Given the description of an element on the screen output the (x, y) to click on. 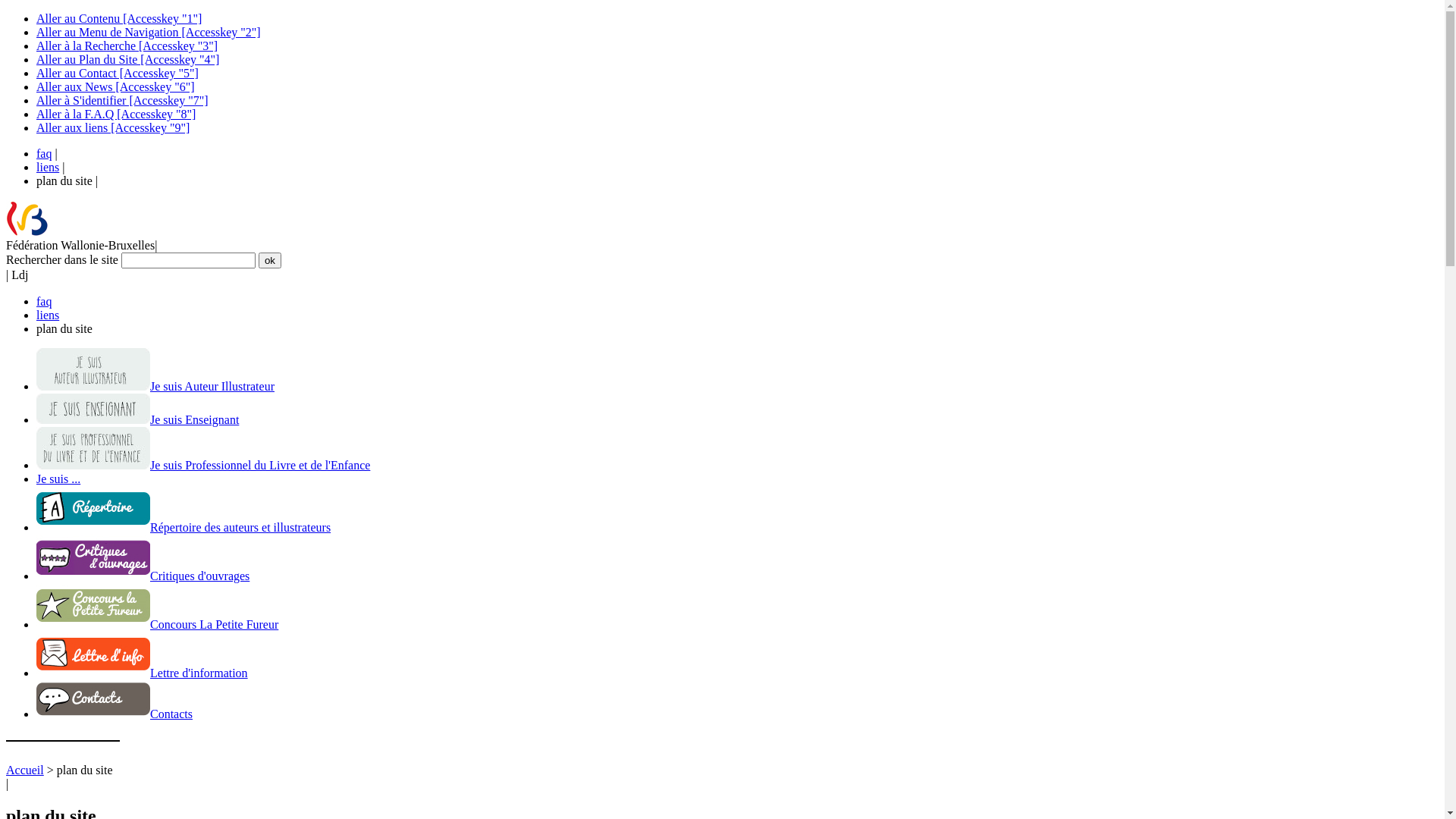
Aller au Plan du Site [Accesskey "4"] Element type: text (127, 59)
faq Element type: text (43, 153)
rechercher Element type: hover (269, 260)
Aller aux News [Accesskey "6"] Element type: text (115, 86)
liens Element type: text (47, 166)
ok Element type: text (269, 260)
Aller au Menu de Navigation [Accesskey "2"] Element type: text (148, 31)
Lettre d'information Element type: text (141, 672)
Critiques d'ouvrages Element type: text (142, 575)
liens Element type: text (47, 314)
Je suis Professionnel du Livre et de l'Enfance Element type: text (203, 464)
Je suis Auteur Illustrateur Element type: text (155, 385)
Accueil Element type: text (24, 769)
Je suis Enseignant Element type: text (137, 419)
Aller aux liens [Accesskey "9"] Element type: text (112, 127)
Je suis ... Element type: text (58, 478)
Aller au Contenu [Accesskey "1"] Element type: text (118, 18)
Aller au Contact [Accesskey "5"] Element type: text (117, 72)
faq Element type: text (43, 300)
Concours La Petite Fureur Element type: text (157, 624)
Contacts Element type: text (114, 713)
